Given the description of an element on the screen output the (x, y) to click on. 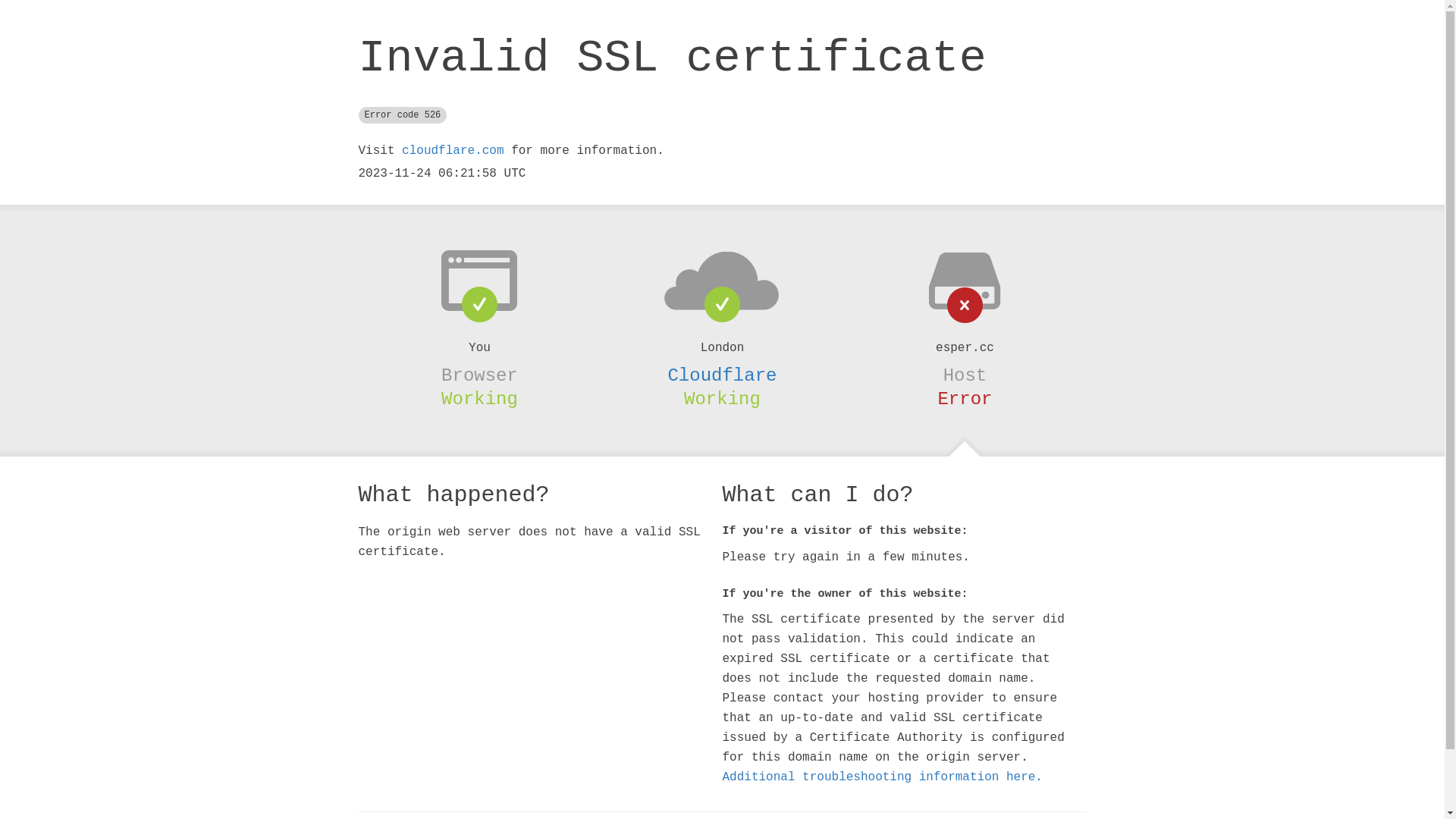
Cloudflare Element type: text (721, 375)
Additional troubleshooting information here. Element type: text (881, 777)
cloudflare.com Element type: text (452, 150)
